Given the description of an element on the screen output the (x, y) to click on. 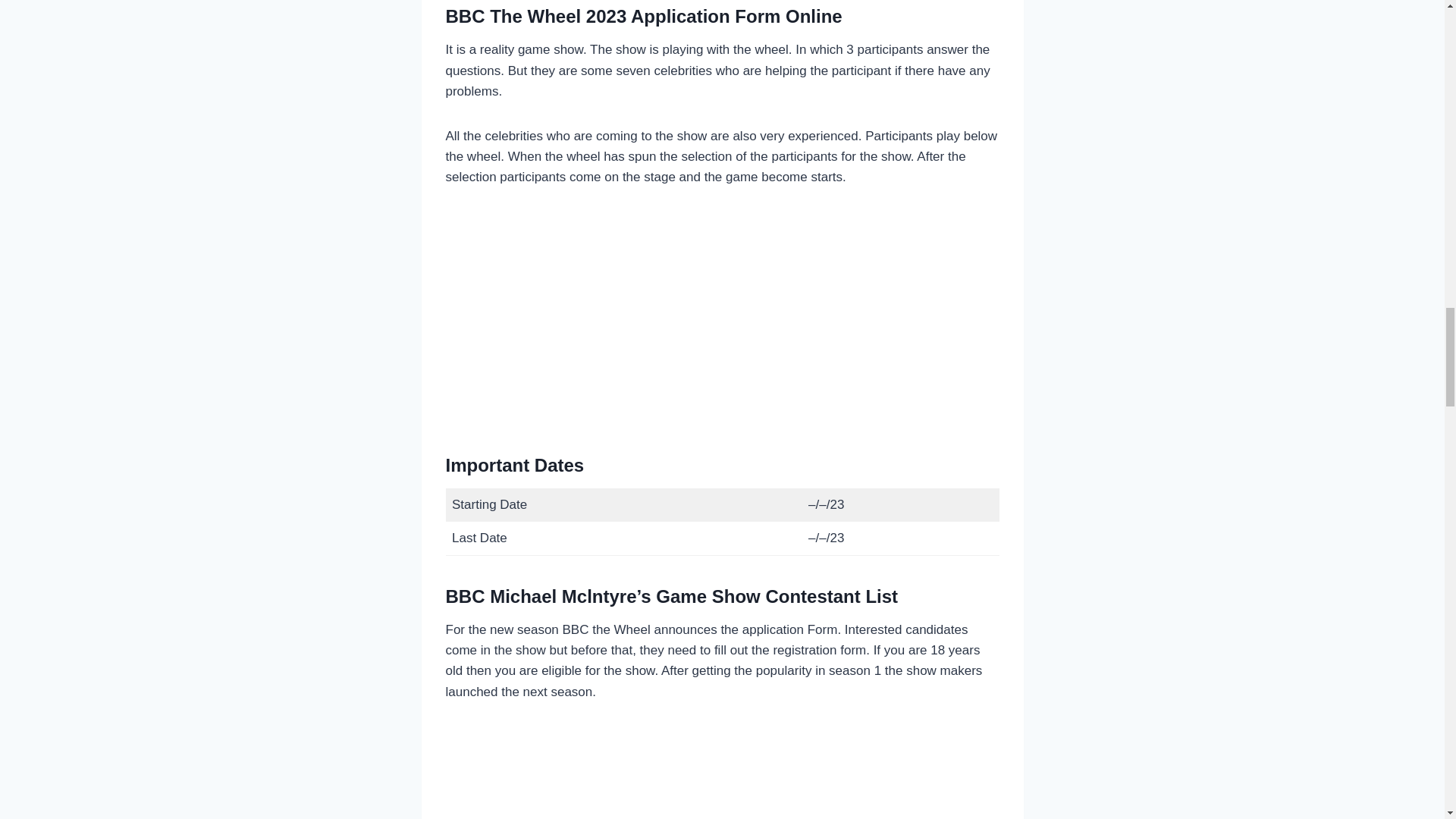
Advertisement (721, 772)
Advertisement (721, 318)
